Given the description of an element on the screen output the (x, y) to click on. 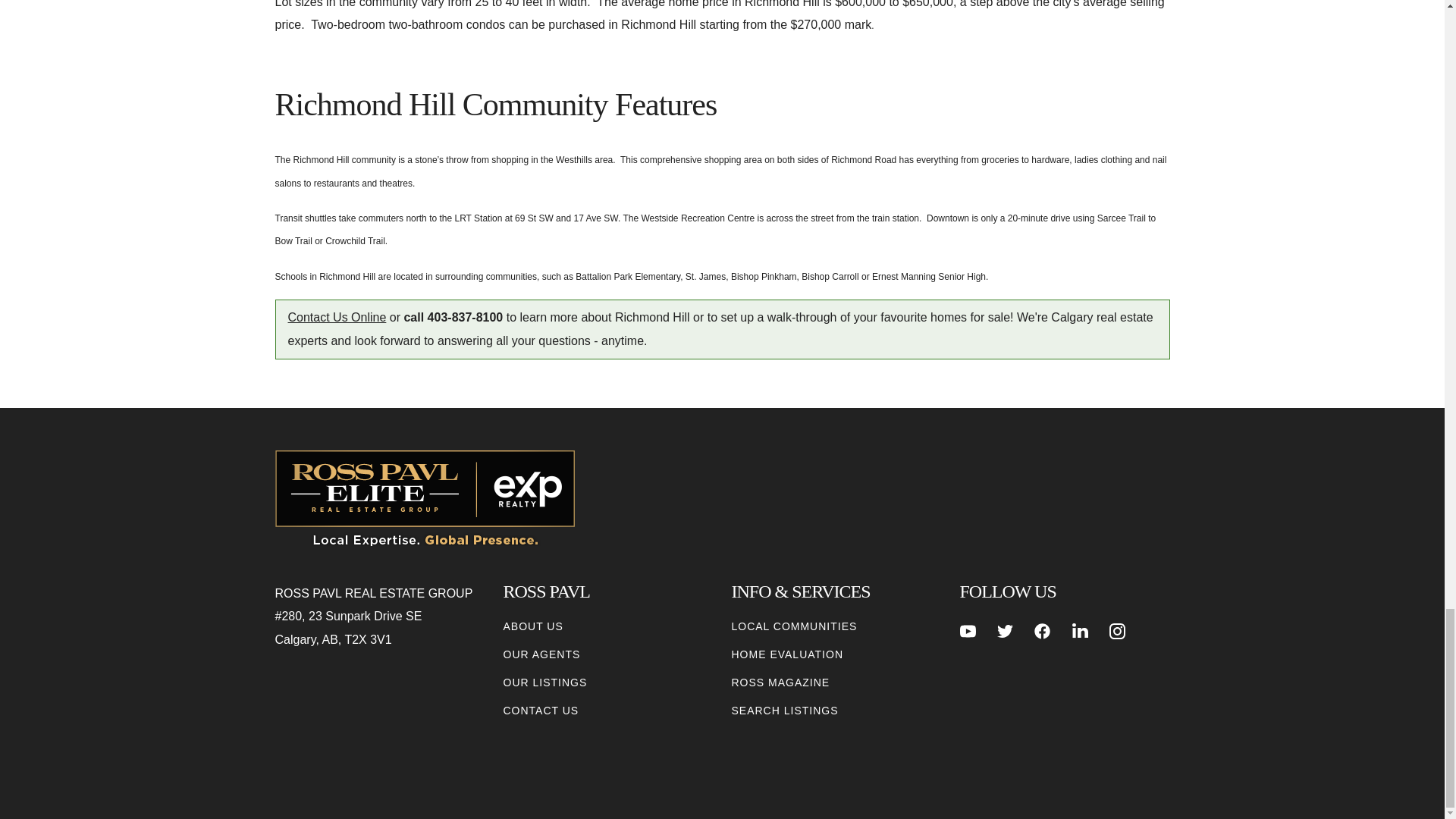
TWITTER (1005, 631)
FACEBOOK (1041, 631)
YOUTUBE (967, 631)
LINKEDIN (1079, 631)
